Given the description of an element on the screen output the (x, y) to click on. 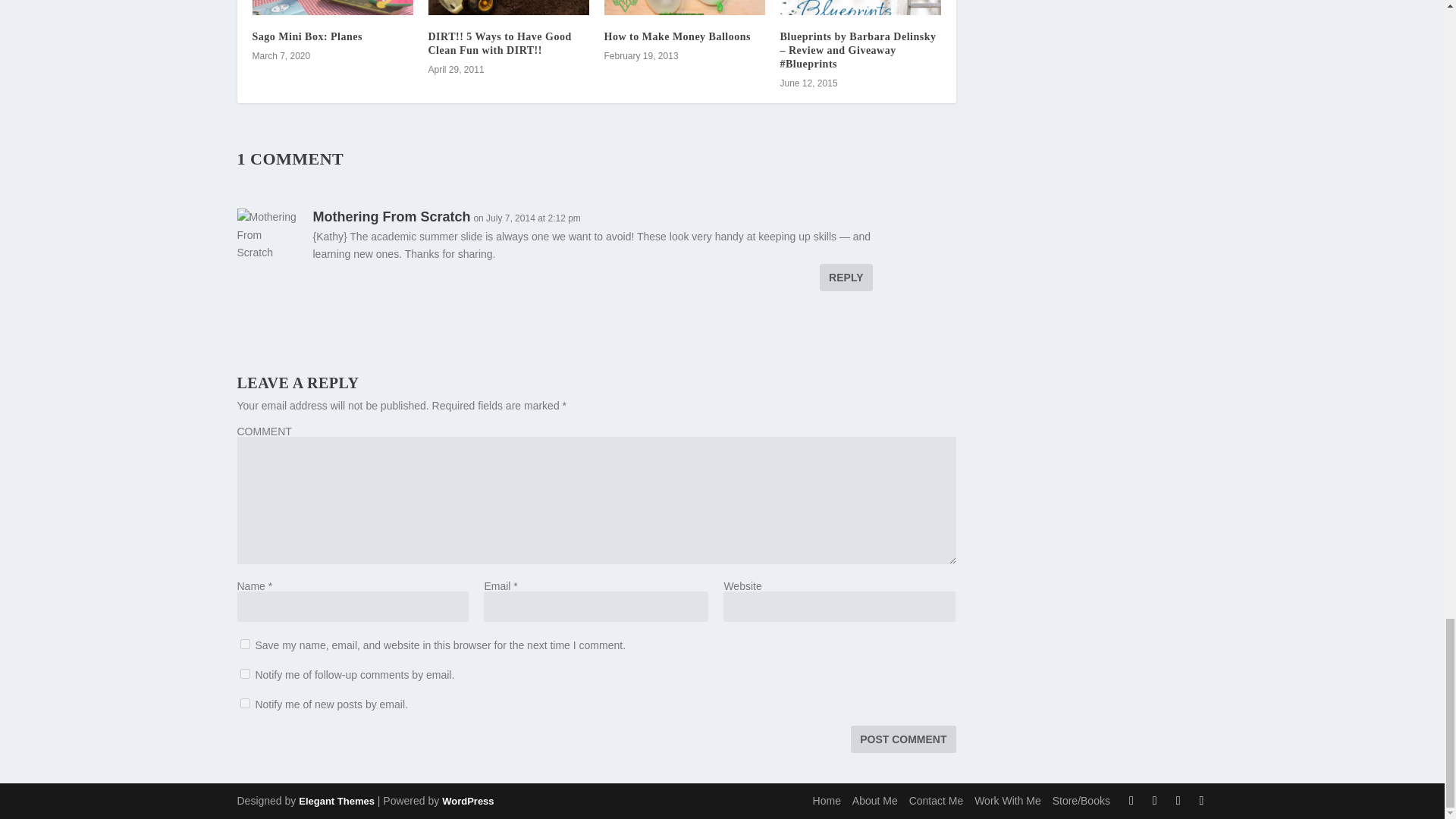
subscribe (244, 673)
yes (244, 644)
DIRT!! 5 Ways to Have Good Clean Fun with DIRT!! (508, 7)
subscribe (244, 703)
Sago Mini Box: Planes (331, 7)
Post Comment (902, 738)
